Given the description of an element on the screen output the (x, y) to click on. 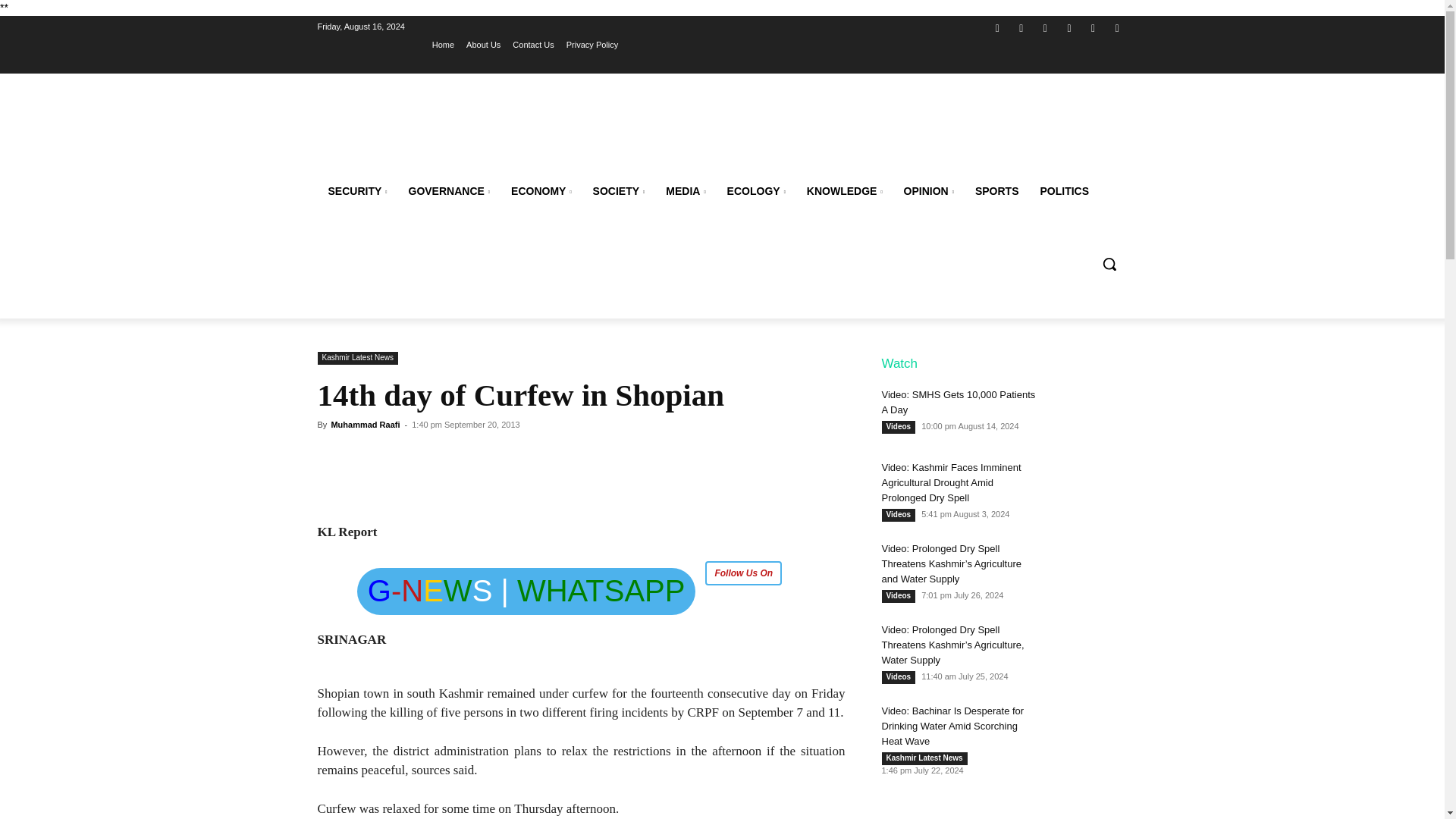
WhatsApp (1093, 28)
Facebook (997, 28)
Youtube (1116, 28)
Website (1069, 28)
Instagram (1021, 28)
Twitter (1045, 28)
